Given the description of an element on the screen output the (x, y) to click on. 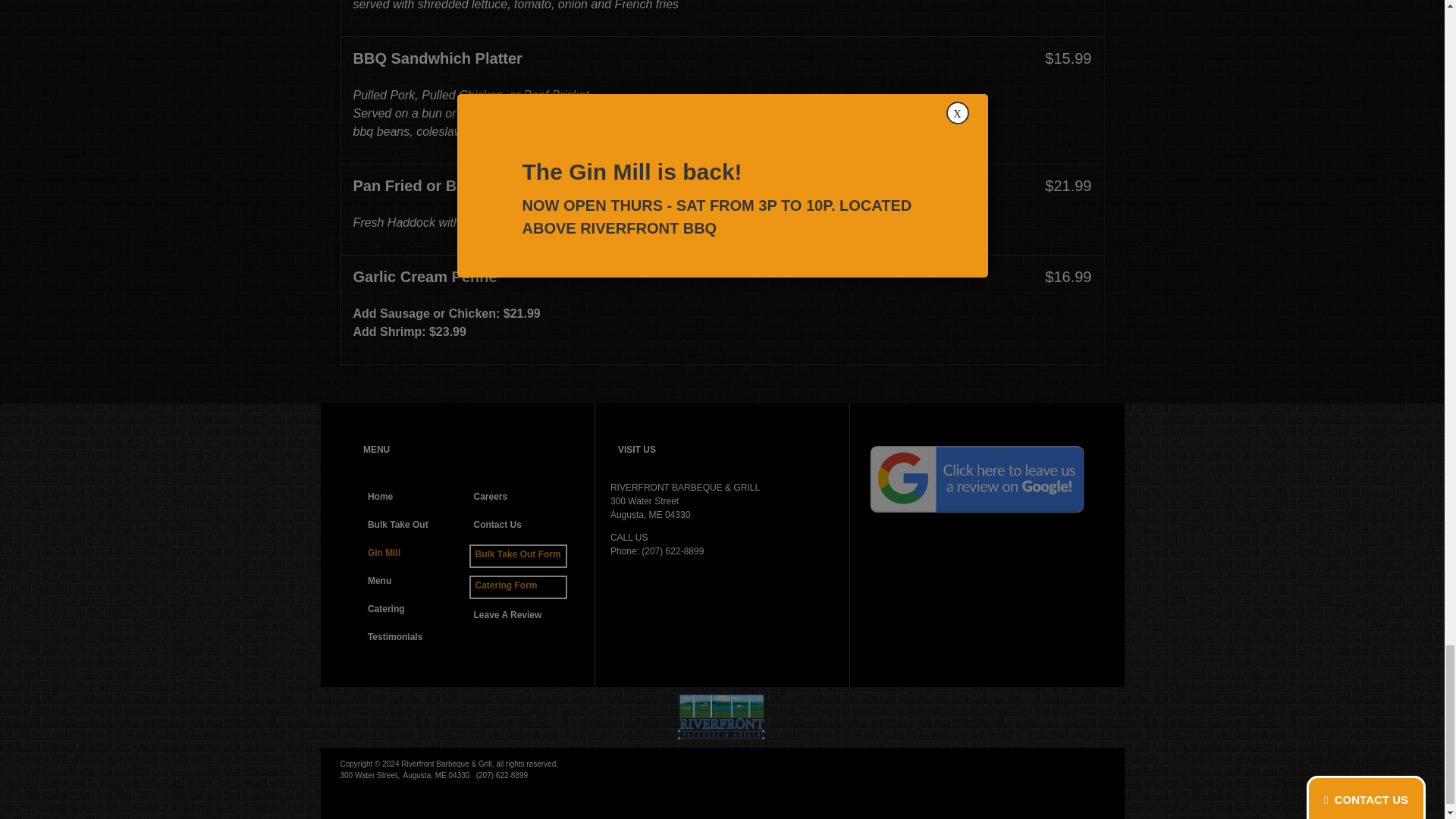
Bulk Take Out (413, 526)
Menu (413, 582)
Testimonials (413, 638)
Catering Form (518, 587)
Catering (413, 610)
Contact Us (519, 526)
Careers (519, 498)
Home (413, 498)
Bulk Take Out Form (518, 556)
Gin Mill (413, 554)
